Given the description of an element on the screen output the (x, y) to click on. 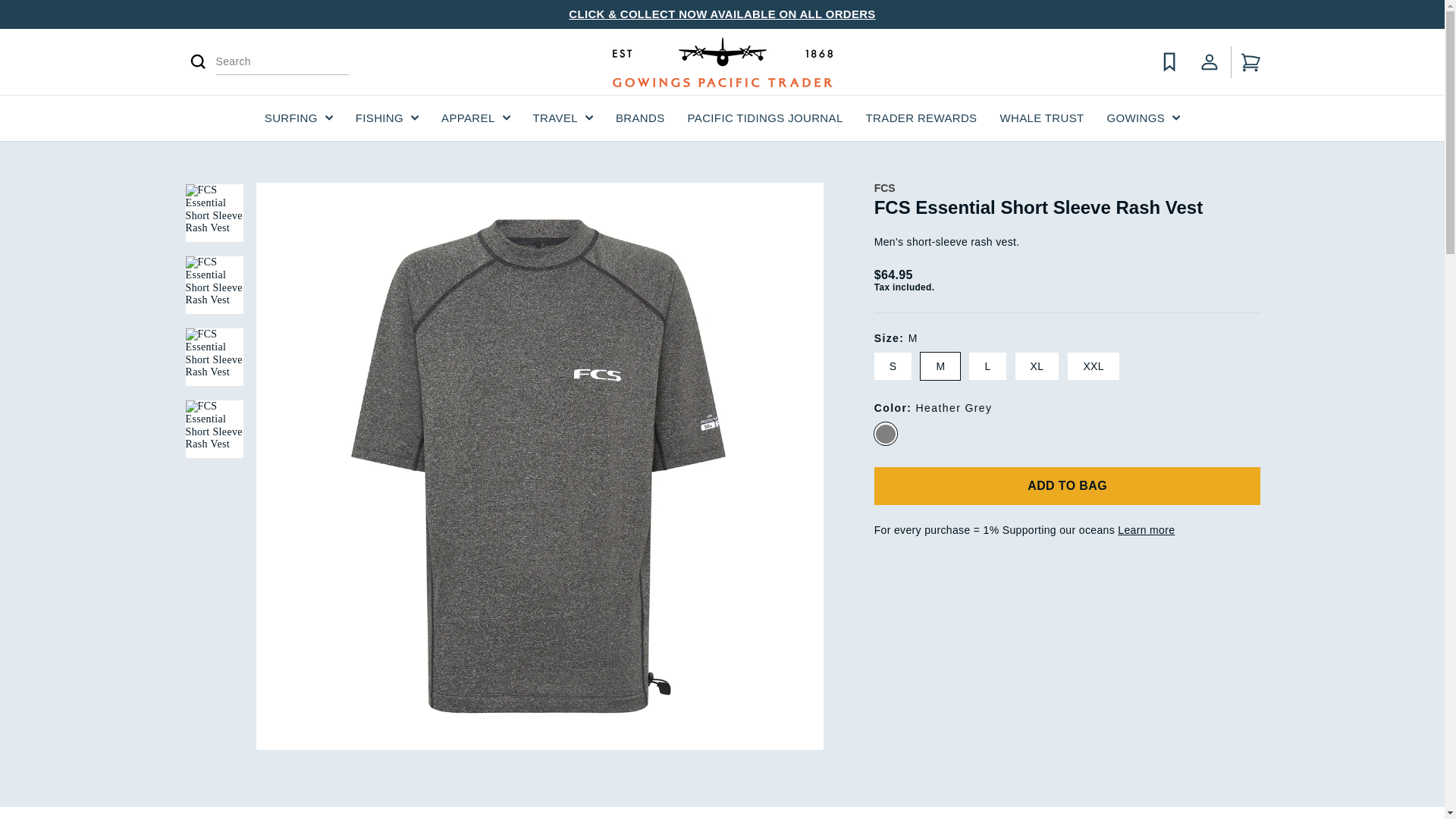
icon-cart (1250, 62)
account (1208, 61)
Wishlist (1169, 60)
